Given the description of an element on the screen output the (x, y) to click on. 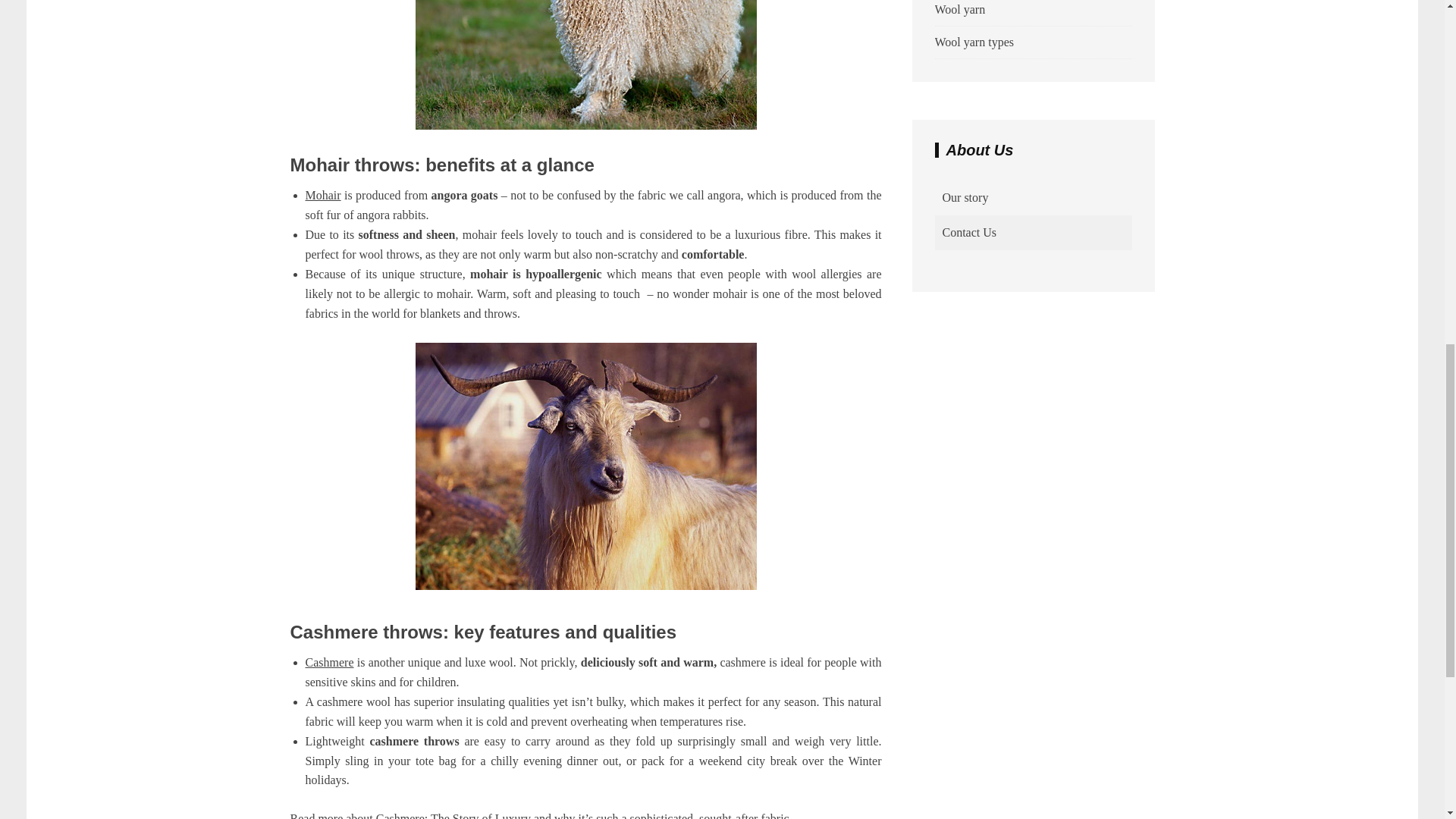
Mohair (322, 195)
What is mohair wool - WoolMe (585, 64)
 Contact Us (968, 232)
Cashmere (328, 662)
 Our story (965, 196)
Cashmere: The Story of Luxury (454, 815)
What is cashmere wool - WoolMe (585, 466)
